Given the description of an element on the screen output the (x, y) to click on. 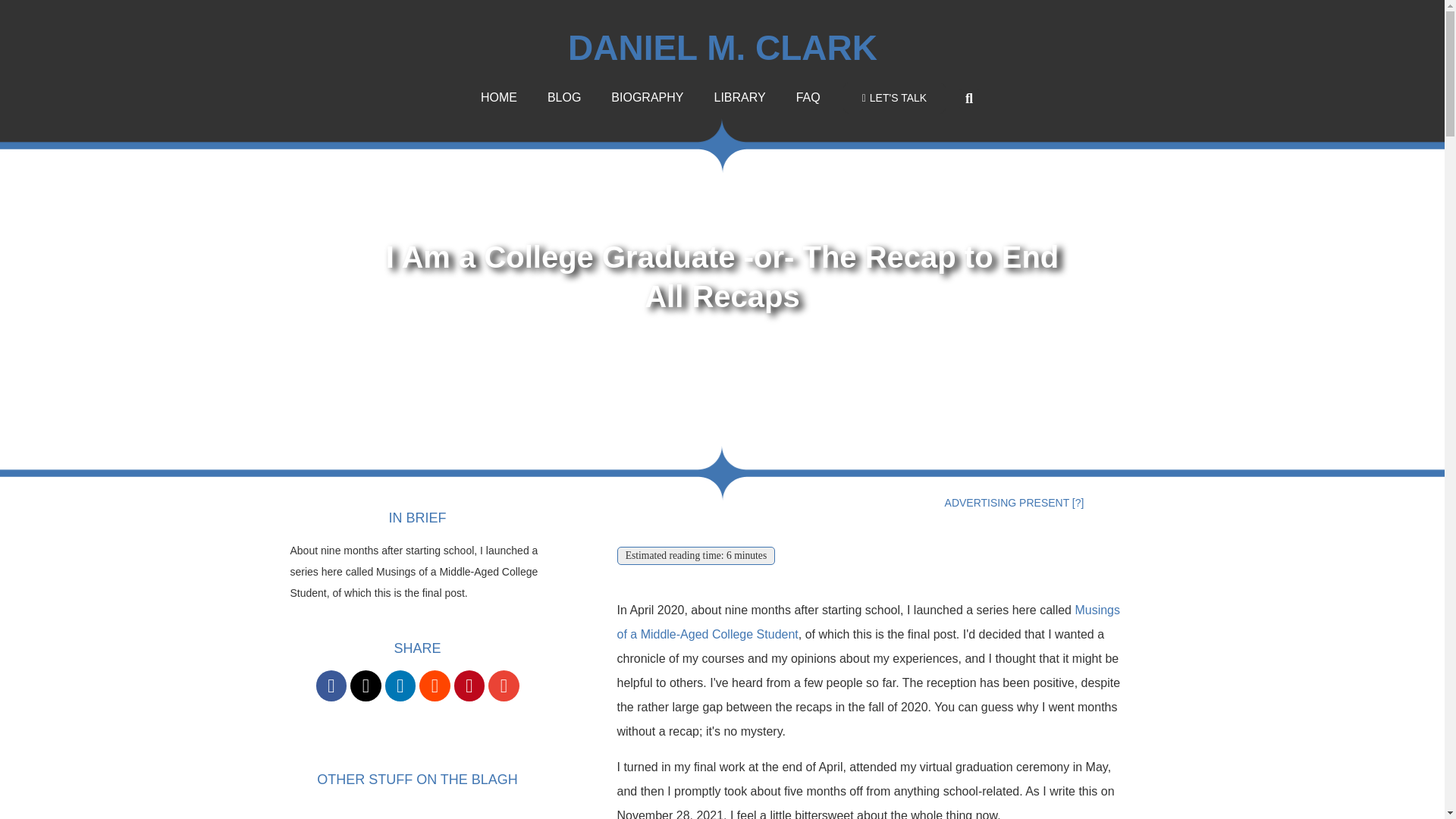
LIBRARY (739, 97)
BLOG (563, 97)
DANIEL M. CLARK (628, 372)
DANIEL M. CLARK (721, 47)
NOVEMBER 29, 2021 (807, 372)
FAQ (807, 97)
HOME (498, 97)
LET'S TALK (893, 97)
Musings of a Middle-Aged College Student (869, 621)
BIOGRAPHY (646, 97)
